Given the description of an element on the screen output the (x, y) to click on. 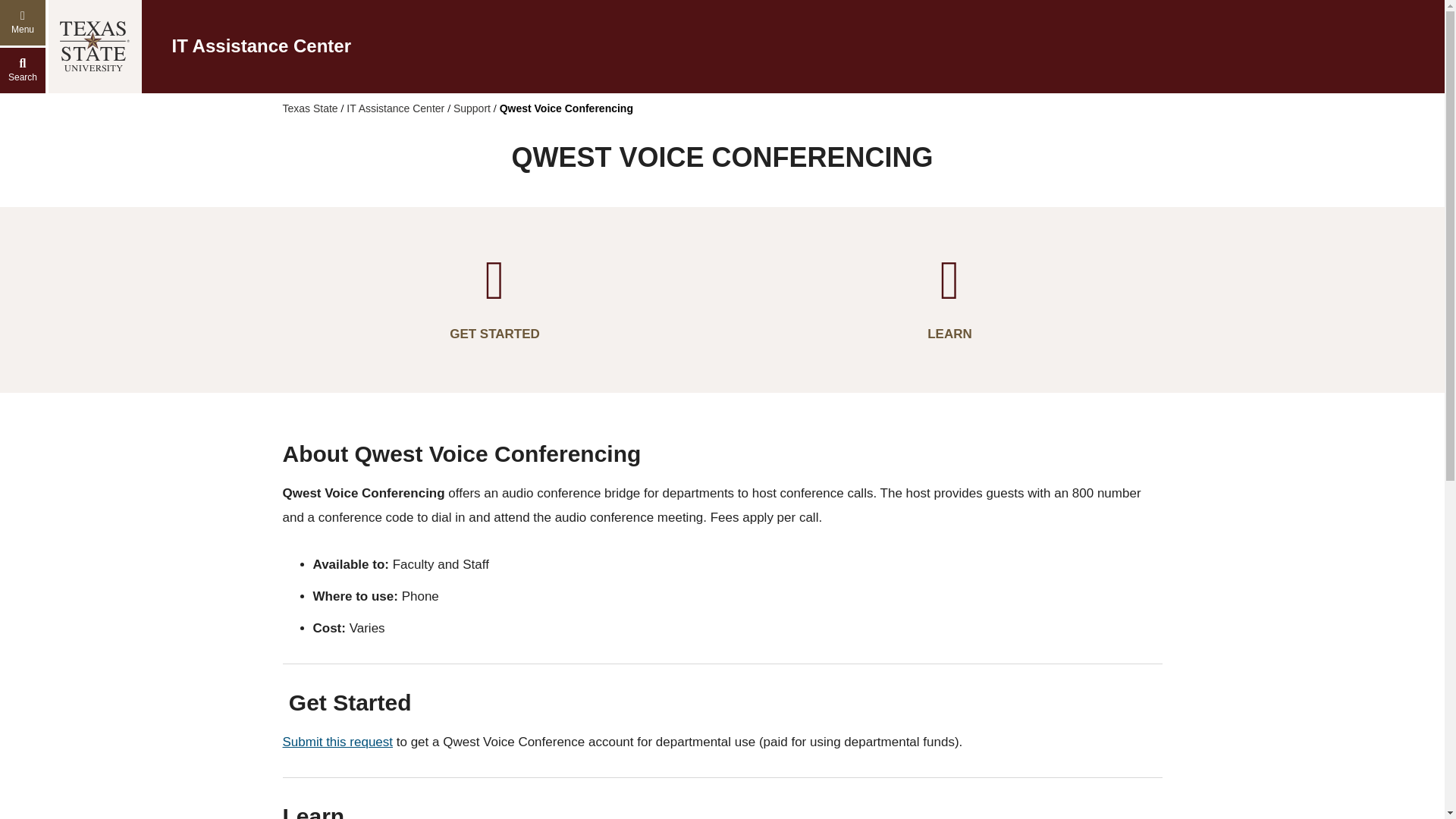
Search (22, 70)
Support (471, 107)
IT Assistance Center (260, 46)
IT Assistance Center (395, 107)
GET STARTED (494, 298)
Texas State (309, 107)
LEARN (948, 298)
Submit this request (338, 741)
